Given the description of an element on the screen output the (x, y) to click on. 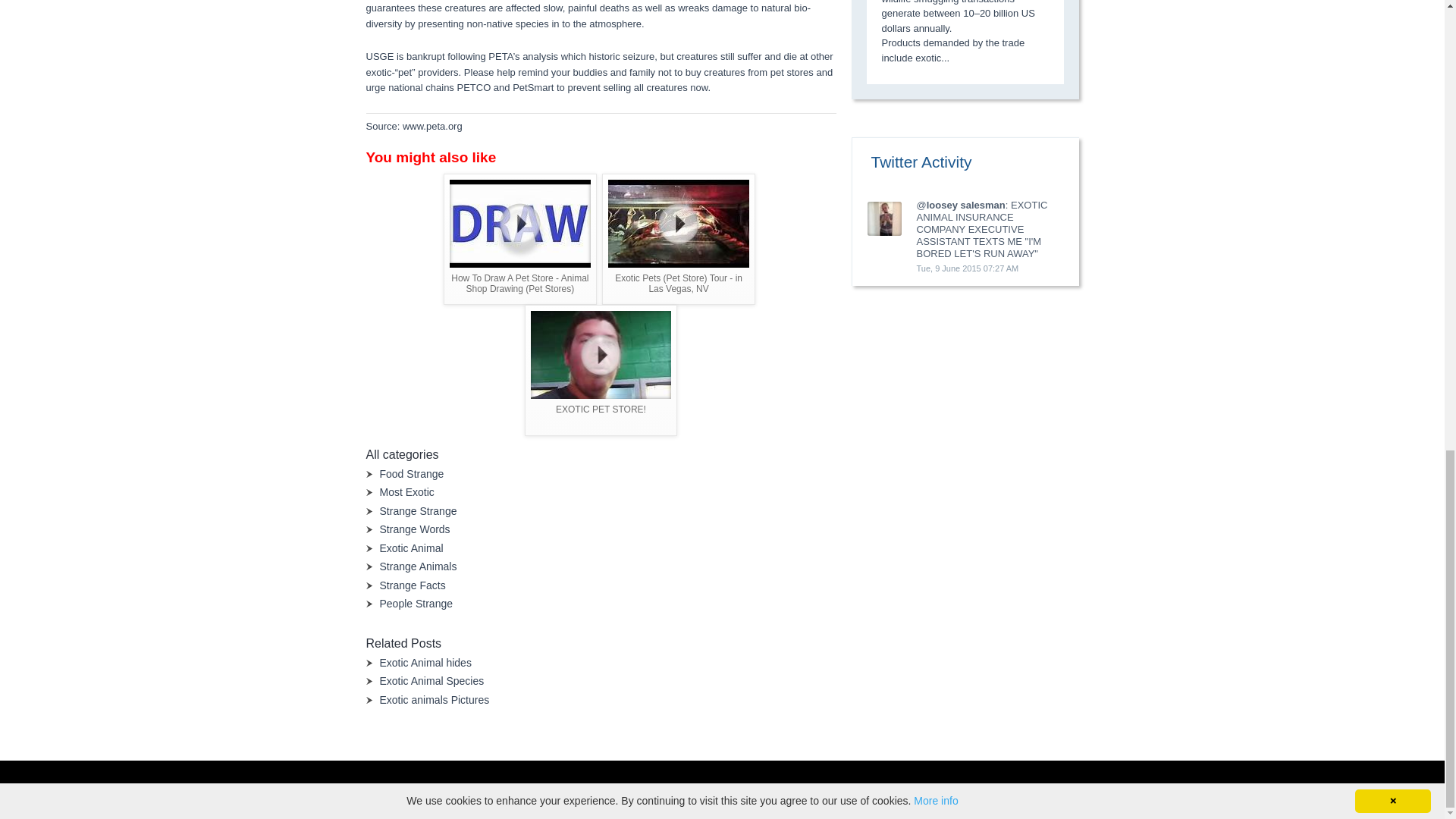
View all posts filed under Exotic Animal (410, 548)
View all posts filed under Most Exotic (405, 491)
View this video from YouTube (520, 238)
Food Strange (411, 473)
Exotic Animal hides (424, 662)
Exotic animals Pictures (433, 699)
View this video from WN (678, 238)
XML Sitemap (826, 790)
View all posts filed under Strange Facts (411, 585)
View all posts filed under People Strange (415, 603)
Exotic Animal (410, 548)
Strange Words (413, 529)
Exotic Animal Species (430, 680)
View this video from YouTube (601, 369)
People Strange (415, 603)
